Given the description of an element on the screen output the (x, y) to click on. 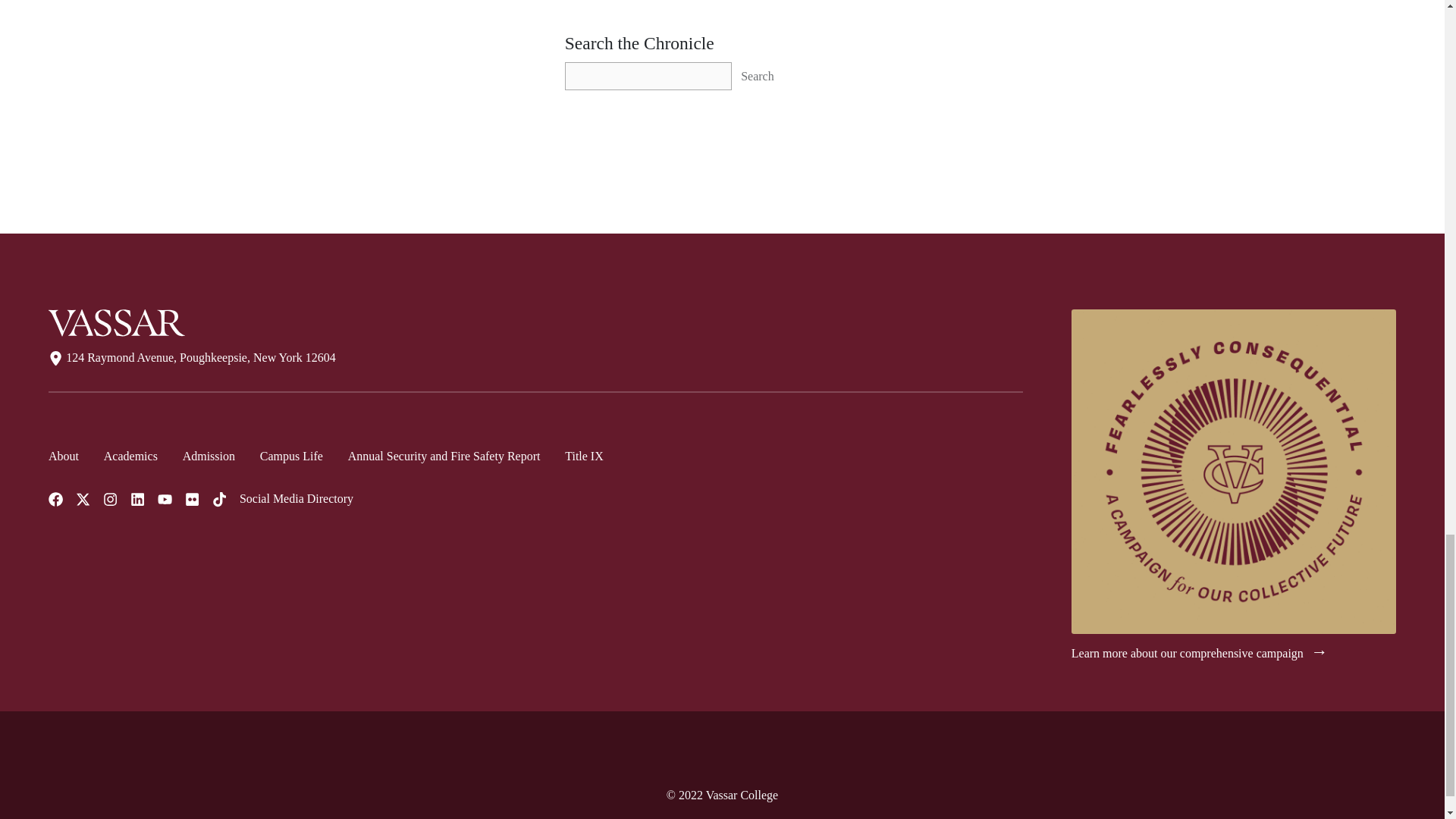
Vassar (116, 322)
